Given the description of an element on the screen output the (x, y) to click on. 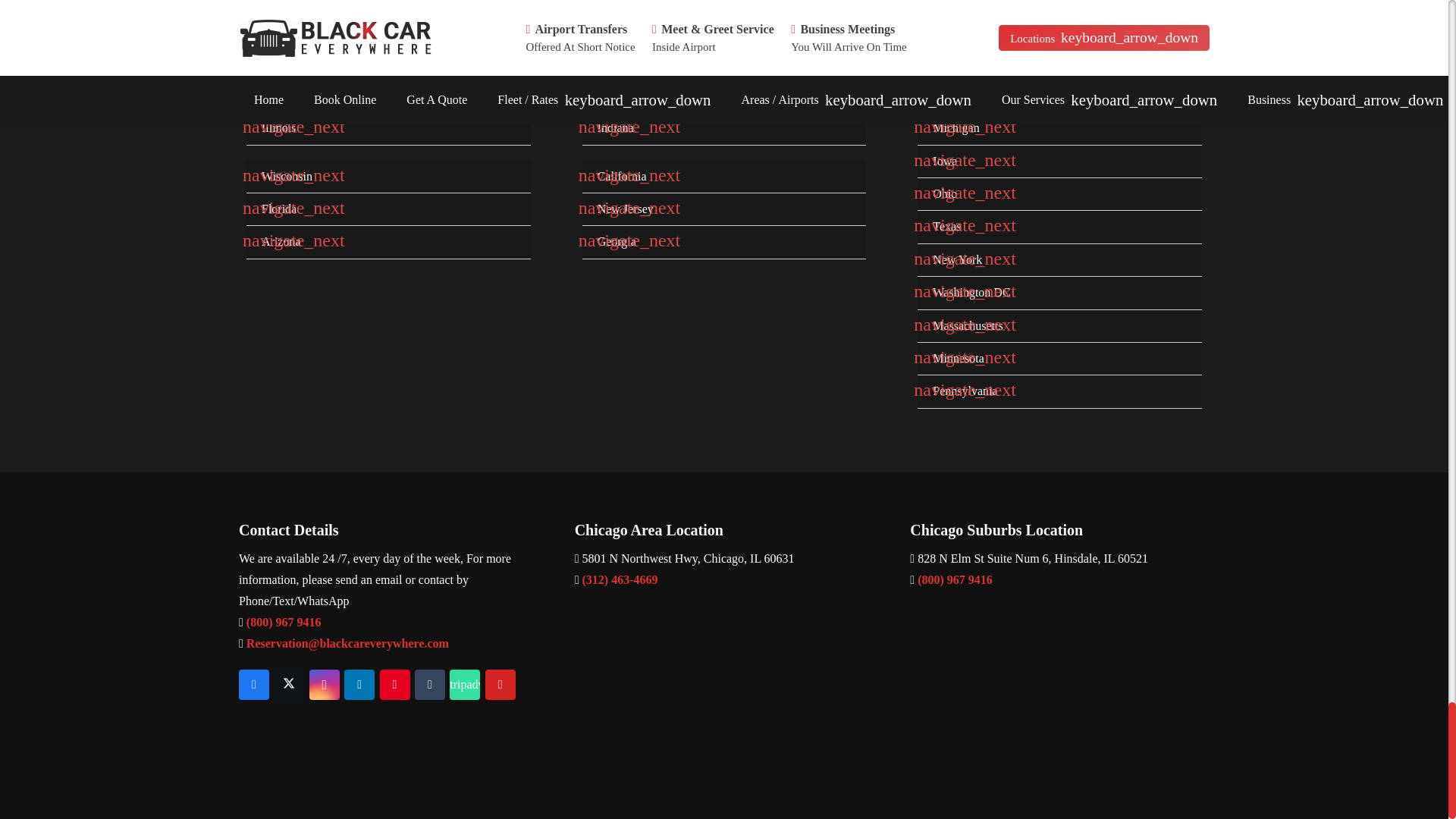
Twitter (288, 684)
Instagram (323, 684)
Tumblr (429, 684)
Facebook (253, 684)
Pinterest (393, 684)
Tripadvisor (464, 684)
Yelp (499, 684)
LinkedIn (358, 684)
